Given the description of an element on the screen output the (x, y) to click on. 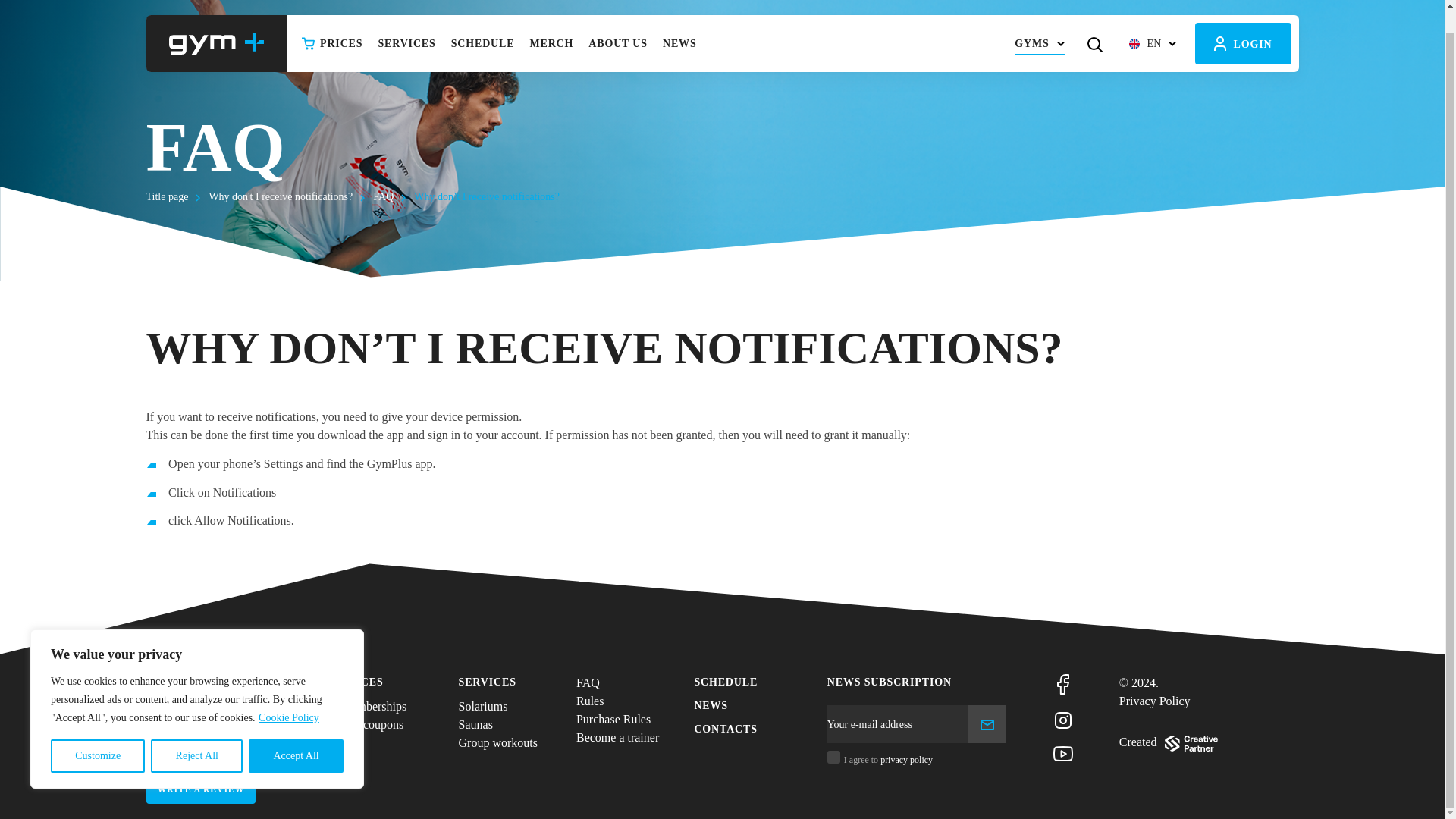
Accept All (295, 733)
NEWS (679, 20)
Customize (97, 733)
SCHEDULE (483, 20)
Cookie Policy (288, 694)
MERCH (550, 20)
ABOUT US (617, 20)
SERVICES (405, 20)
PRICES (332, 20)
Reject All (197, 733)
